Given the description of an element on the screen output the (x, y) to click on. 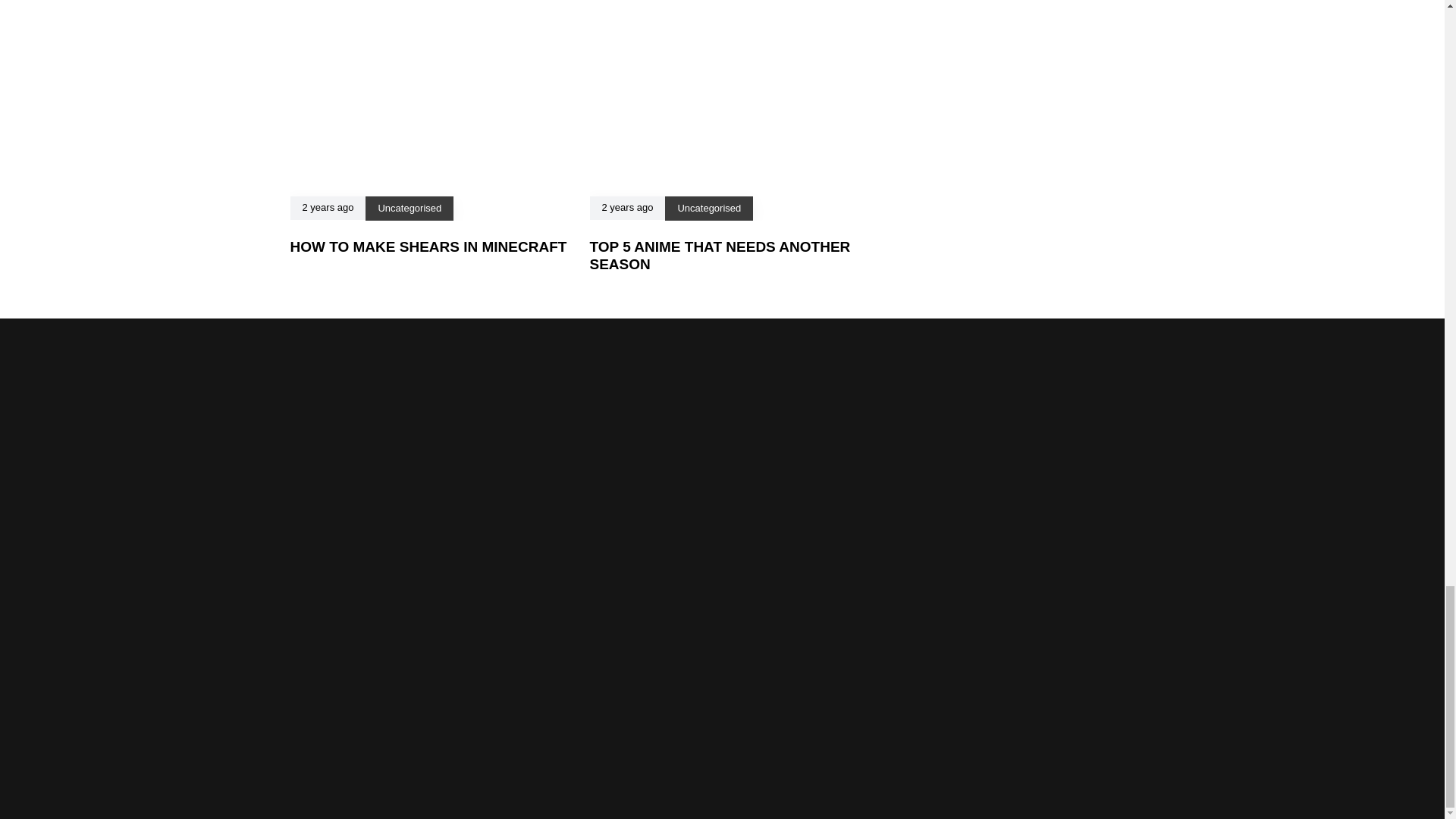
HOW TO MAKE SHEARS IN MINECRAFT (427, 246)
Uncategorised (409, 207)
TOP 5 ANIME THAT NEEDS ANOTHER SEASON (719, 255)
Uncategorised (709, 207)
